Given the description of an element on the screen output the (x, y) to click on. 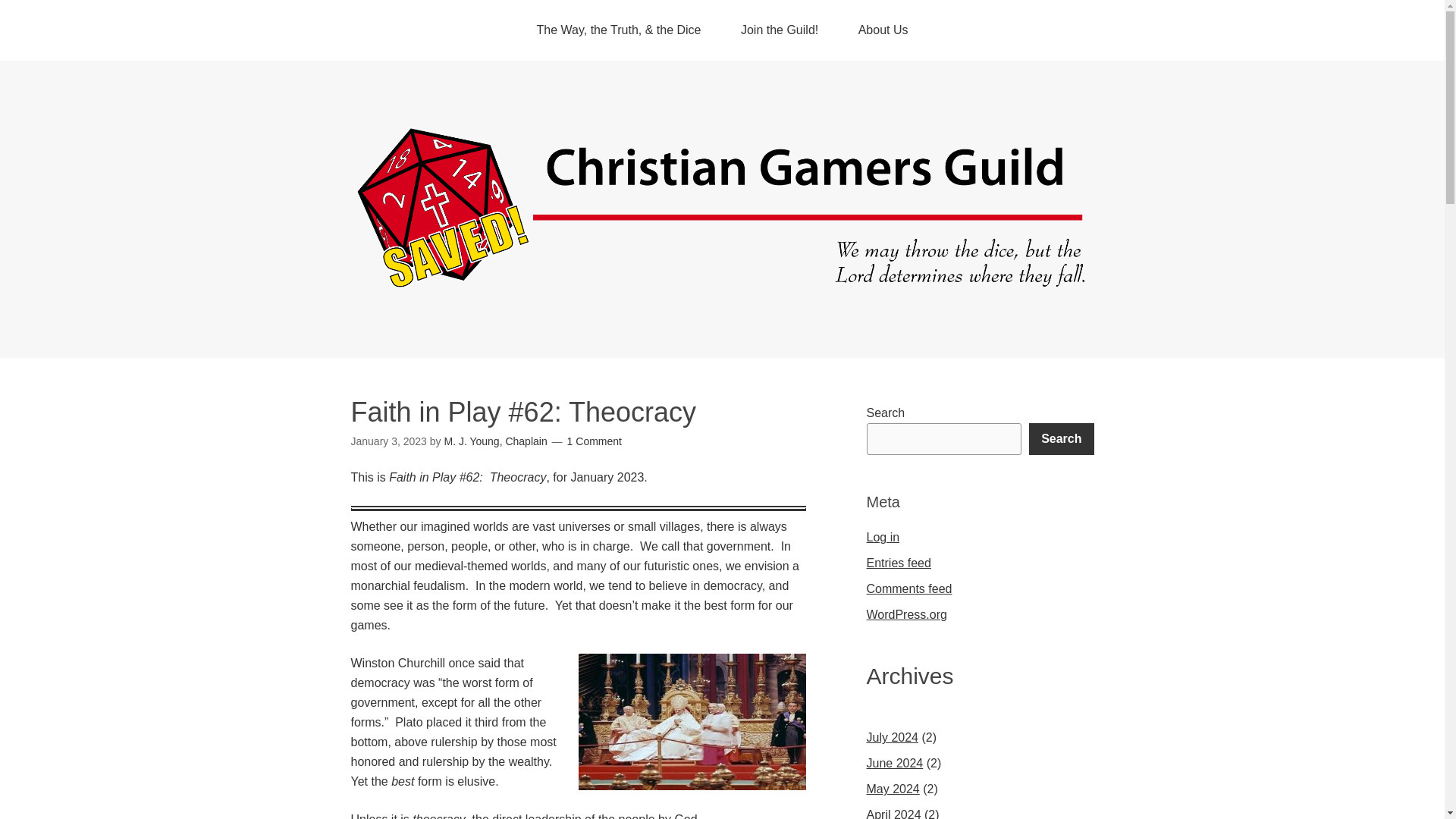
Join the Guild! (778, 30)
M. J. Young, Chaplain (495, 440)
1 Comment (594, 440)
Tuesday, January 3, 2023, 3:00 pm (388, 440)
About Us (883, 30)
Posts by M. J. Young, Chaplain (495, 440)
Christian Gamers Guild (721, 282)
